Given the description of an element on the screen output the (x, y) to click on. 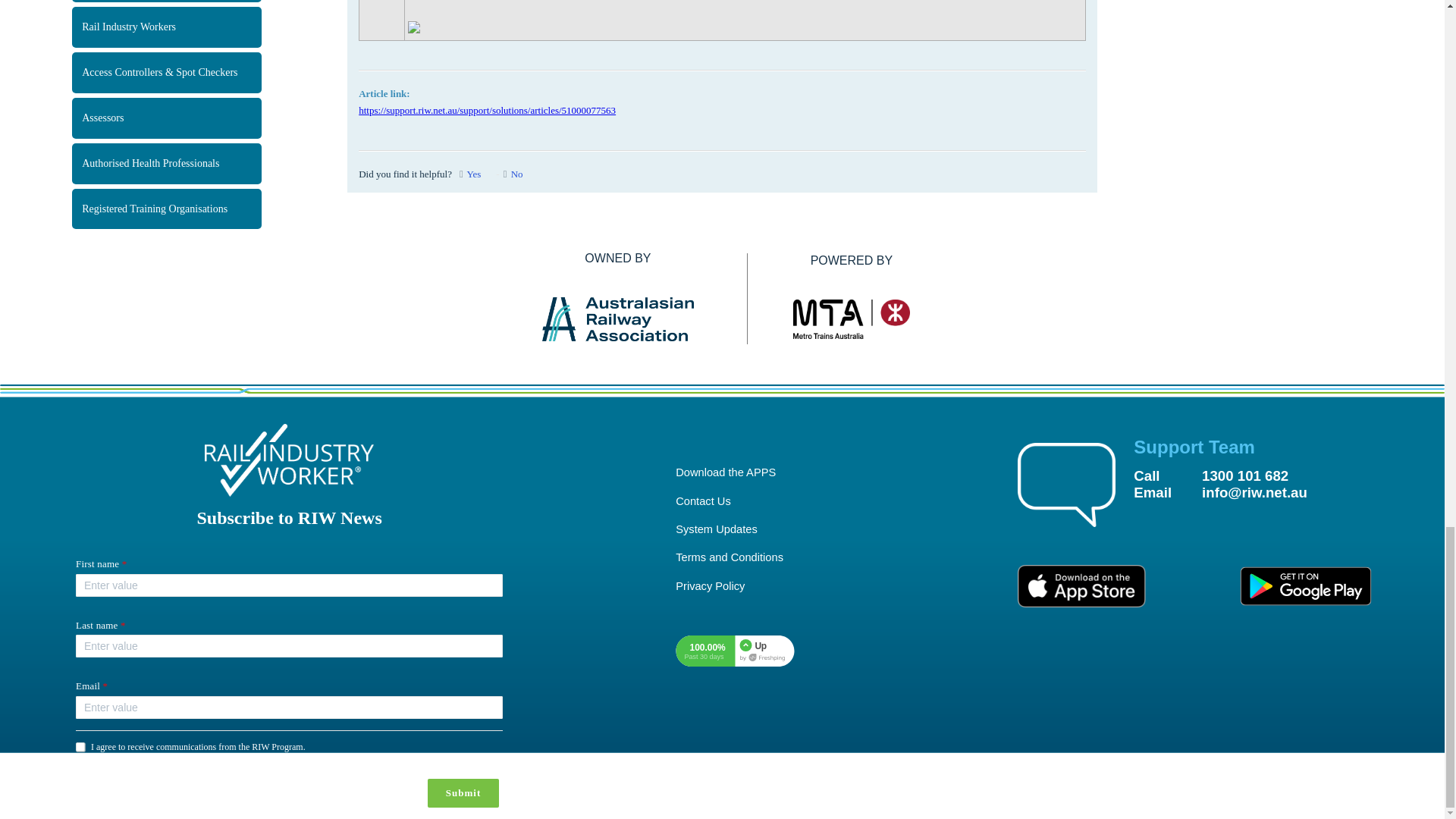
on (80, 747)
